Given the description of an element on the screen output the (x, y) to click on. 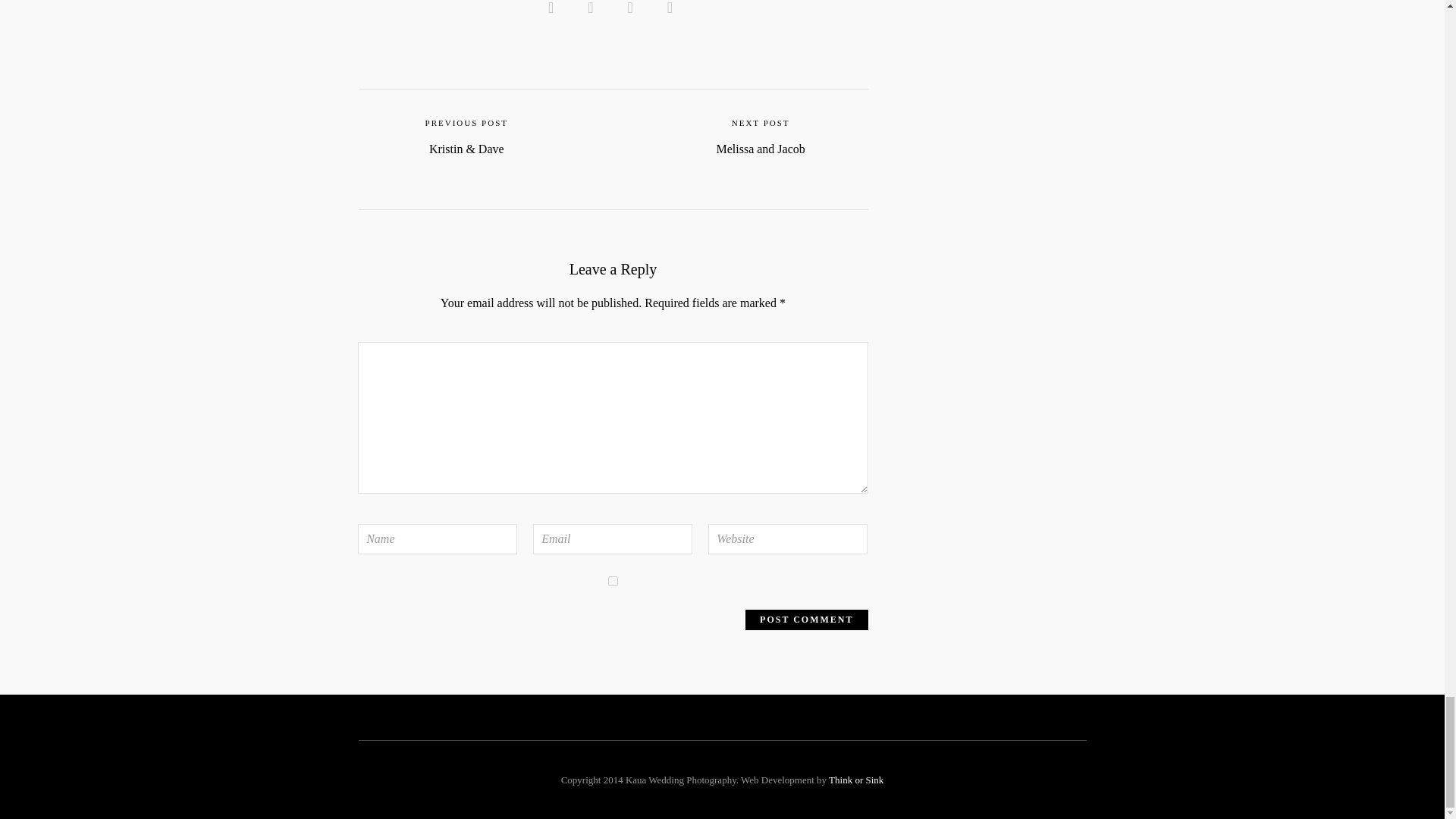
Share On Twitter (593, 8)
Share On Facebook (553, 8)
Post Comment (806, 619)
Share On Pinterest (632, 8)
yes (612, 581)
